Given the description of an element on the screen output the (x, y) to click on. 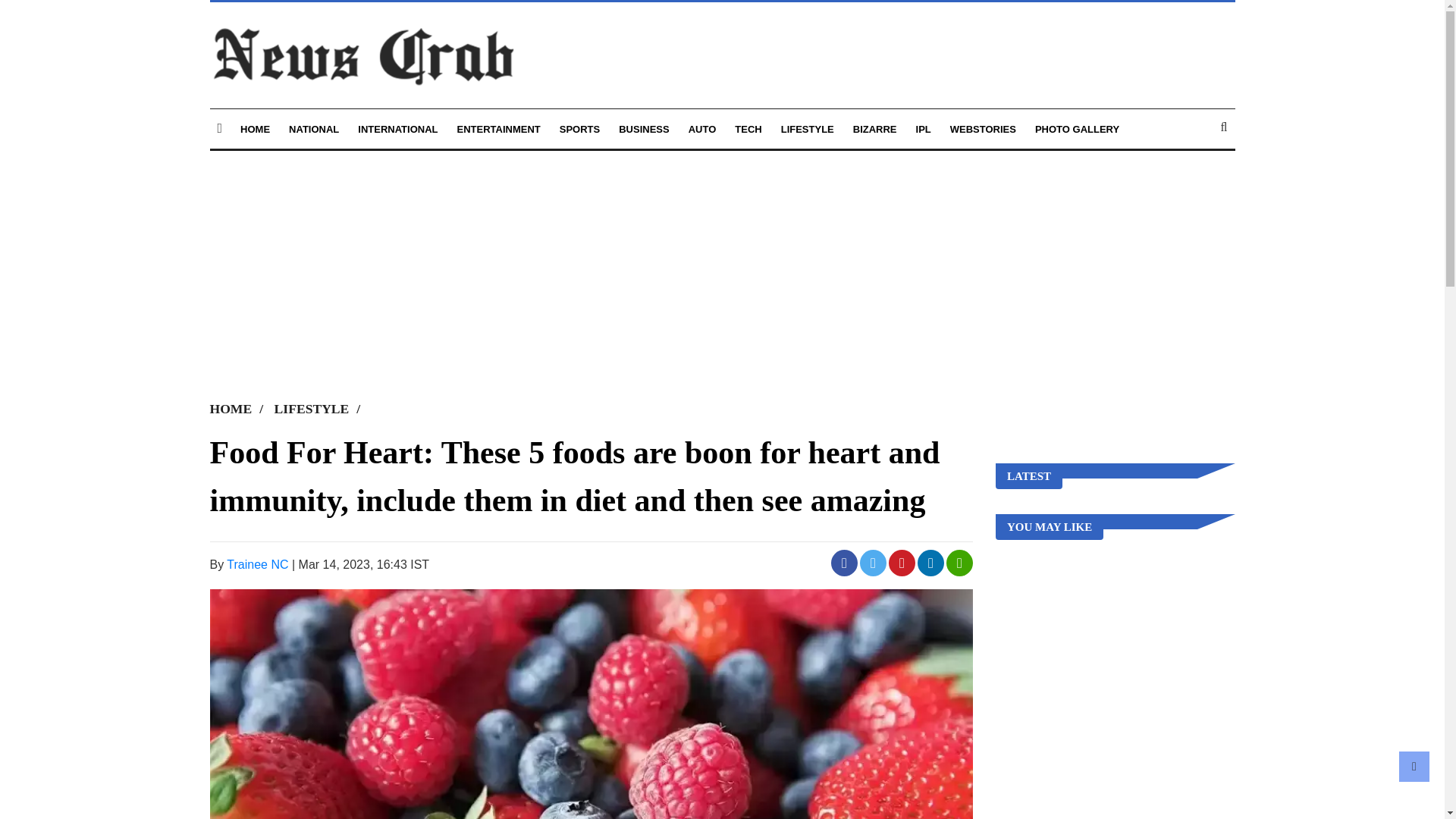
IPL (923, 129)
PHOTO GALLERY (1077, 129)
LIFESTYLE (807, 129)
BIZARRE (874, 129)
TECH (748, 129)
HOME (239, 408)
NATIONAL (313, 129)
INTERNATIONAL (398, 129)
LIFESTYLE (321, 408)
WEBSTORIES (983, 129)
BUSINESS (643, 129)
ENTERTAINMENT (498, 129)
AUTO (702, 129)
SPORTS (579, 129)
YouTube video player (421, 269)
